Given the description of an element on the screen output the (x, y) to click on. 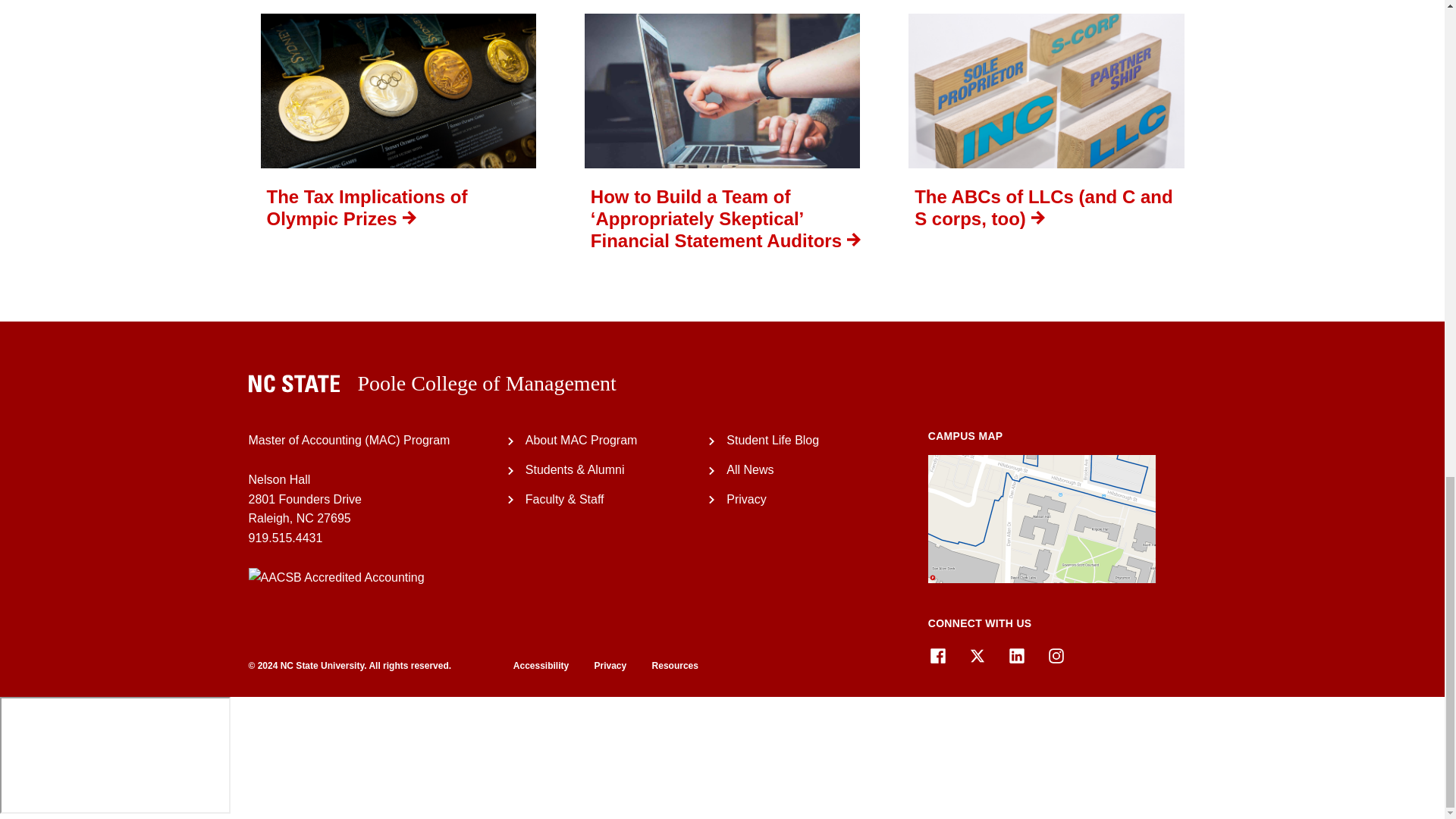
LinkedIn (1016, 655)
Facebook (937, 655)
X (977, 655)
Instagram (1055, 655)
